Given the description of an element on the screen output the (x, y) to click on. 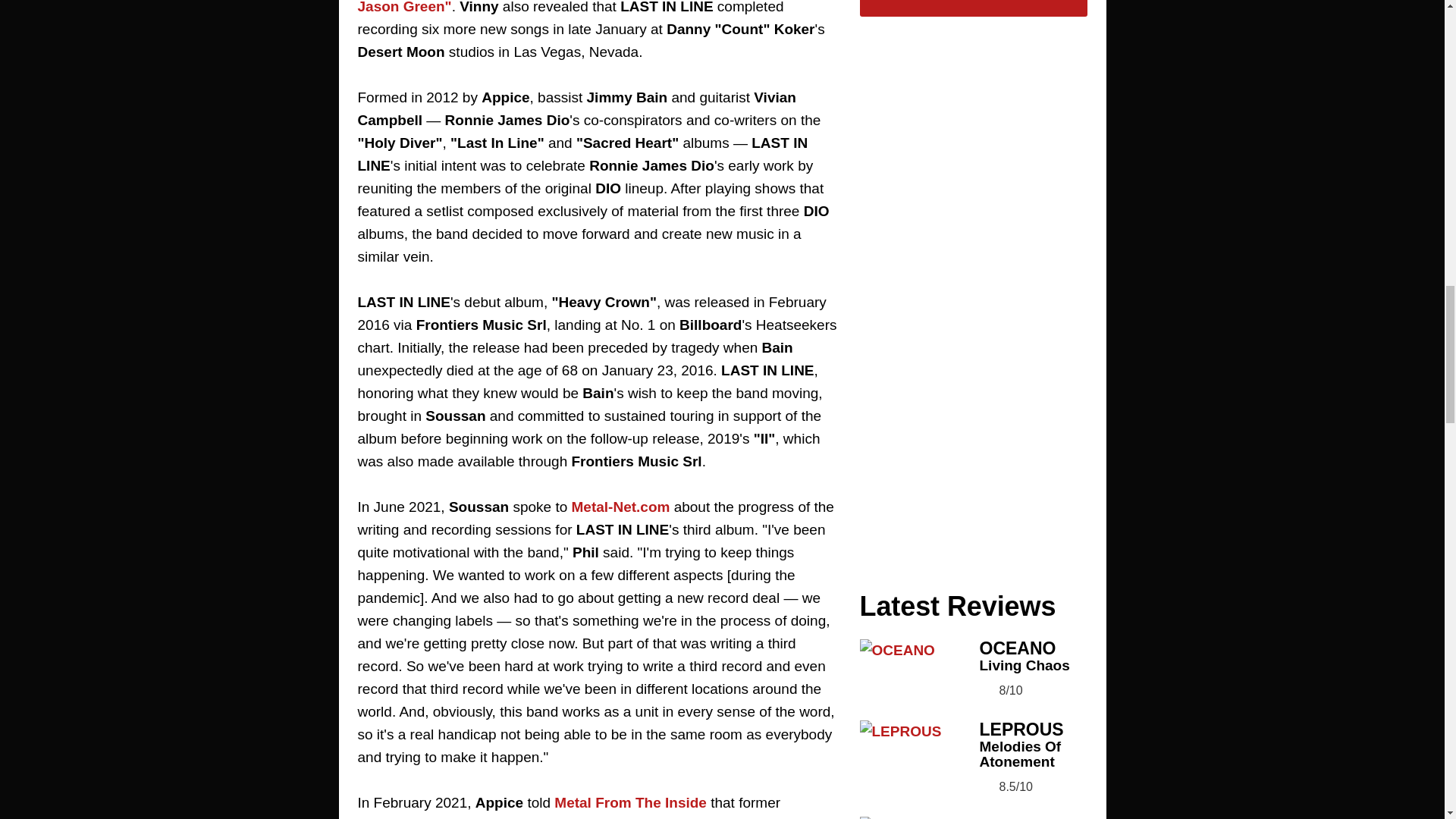
Metal-Net.com (620, 506)
"Waste Some Time With Jason Green" (593, 7)
Metal From The Inside (630, 802)
